Given the description of an element on the screen output the (x, y) to click on. 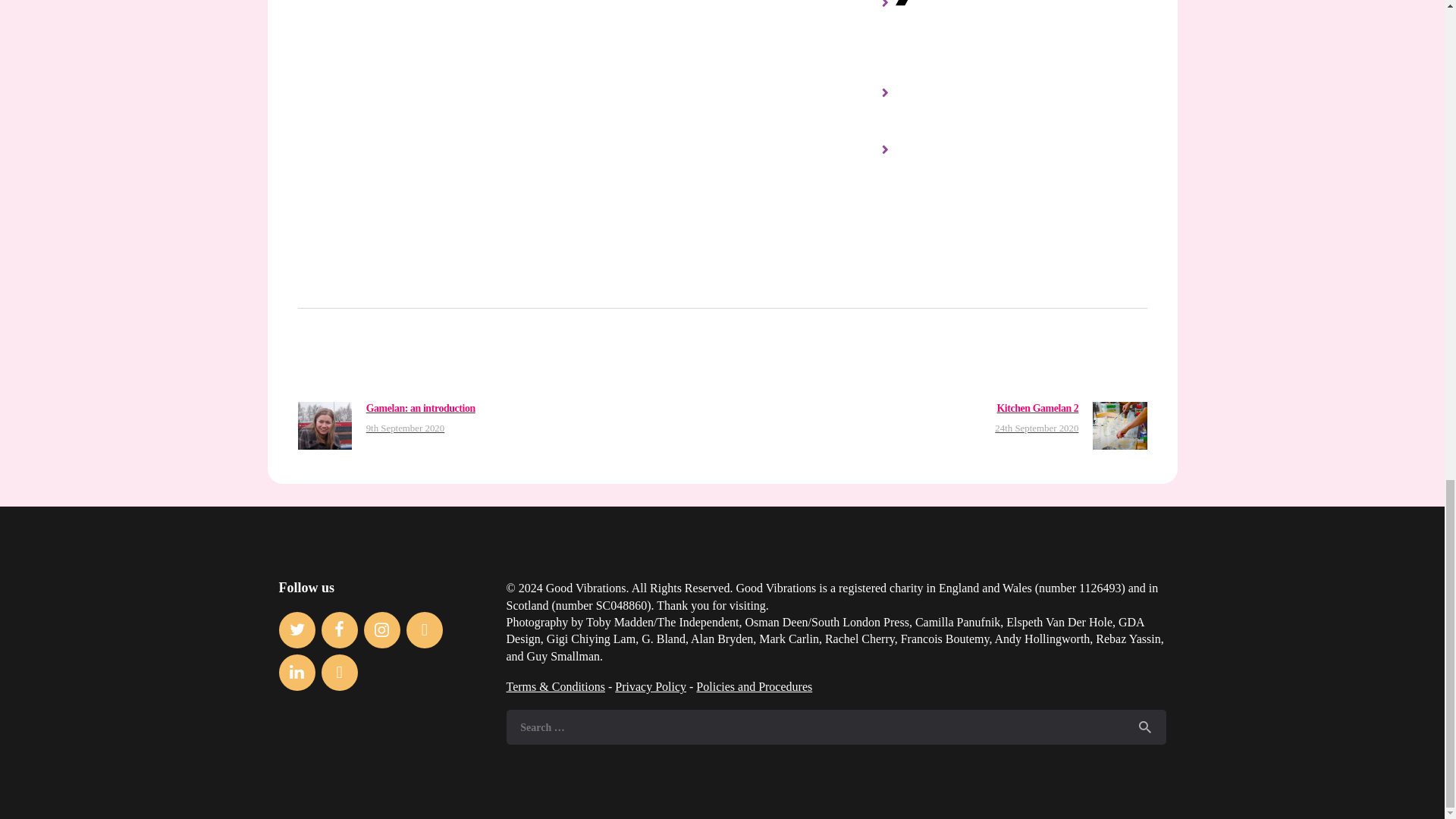
Search (1145, 727)
Search (1145, 727)
